Given the description of an element on the screen output the (x, y) to click on. 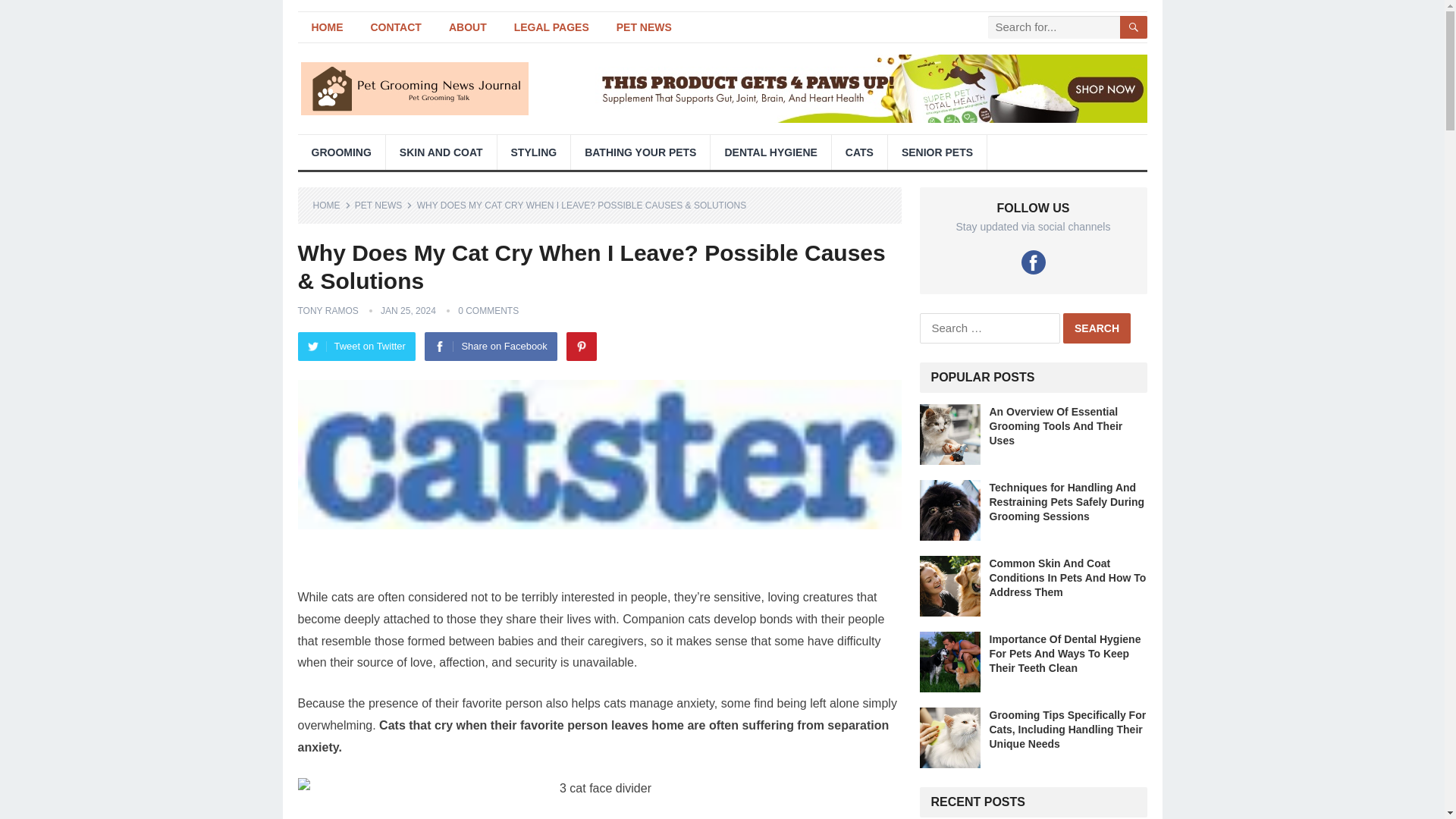
Tweet on Twitter (355, 346)
View all posts in Pet News (383, 204)
Search (1096, 327)
DENTAL HYGIENE (769, 152)
LEGAL PAGES (551, 27)
ABOUT (467, 27)
STYLING (533, 152)
BATHING YOUR PETS (640, 152)
PET NEWS (643, 27)
HOME (326, 27)
CONTACT (394, 27)
SENIOR PETS (937, 152)
Share on Facebook (490, 346)
PET NEWS (383, 204)
CATS (858, 152)
